Given the description of an element on the screen output the (x, y) to click on. 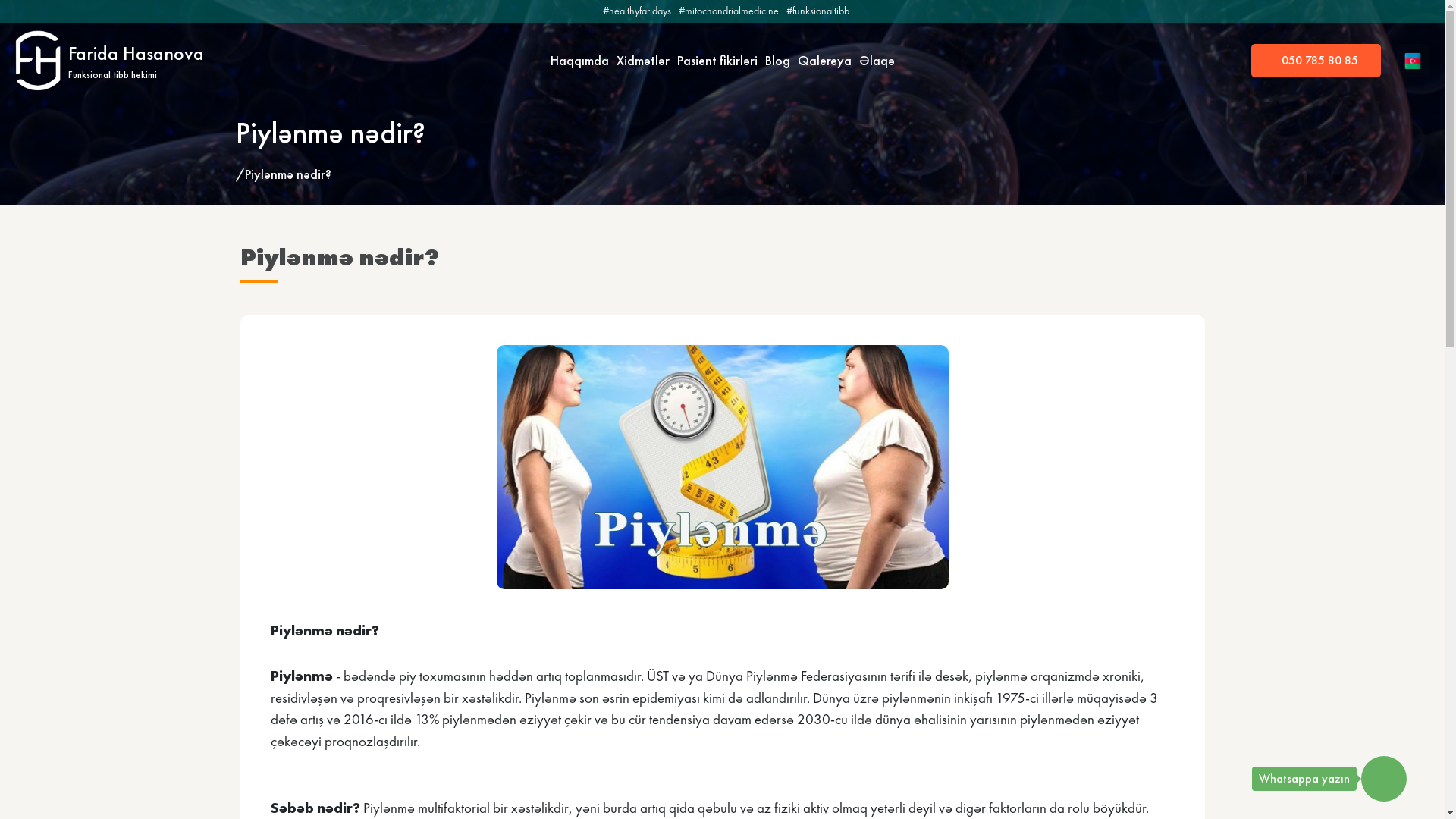
/ Element type: text (239, 173)
Blog Element type: text (776, 60)
Qalereya Element type: text (824, 60)
050 785 80 85 Element type: text (1315, 60)
